Given the description of an element on the screen output the (x, y) to click on. 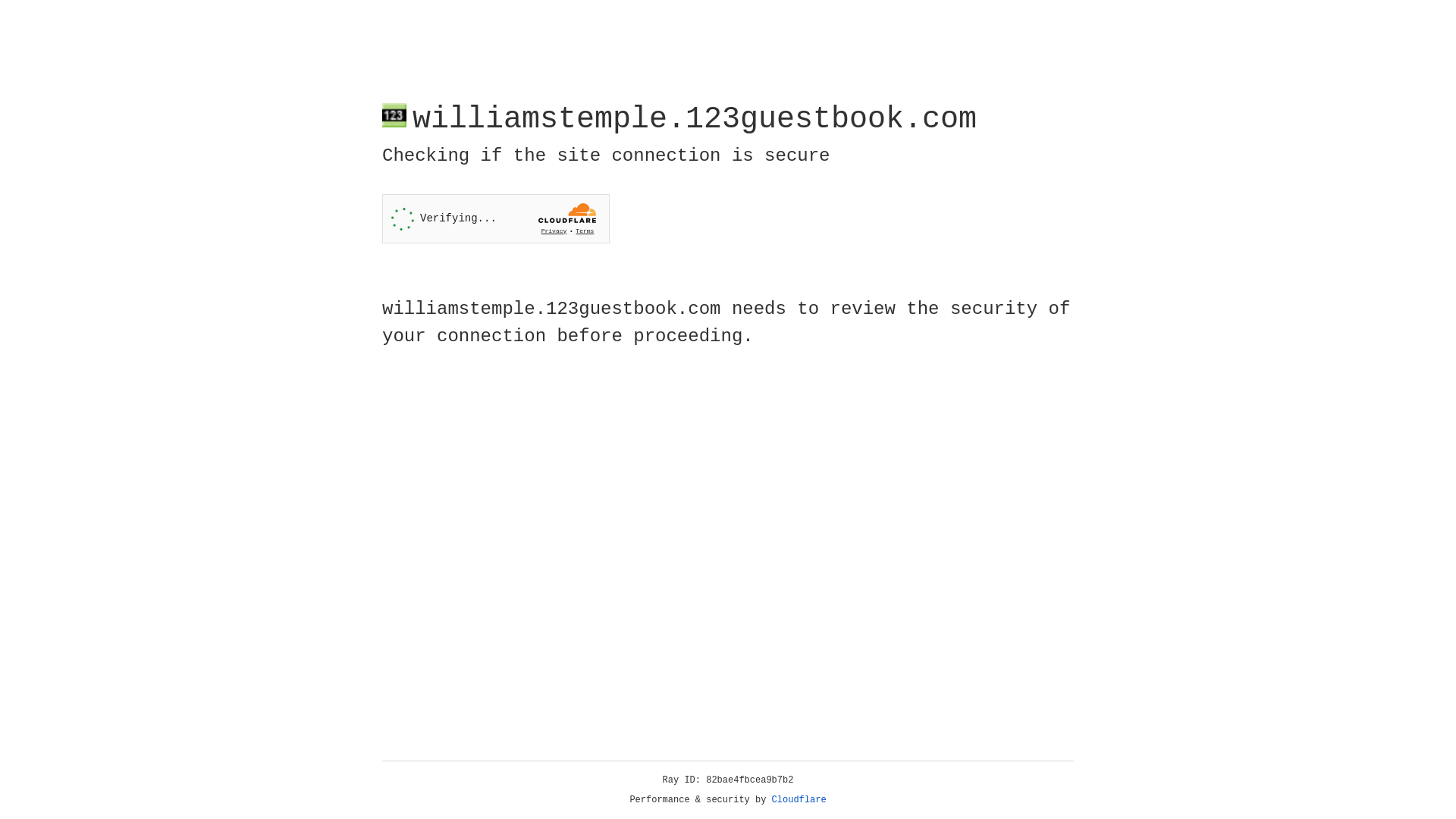
Cloudflare Element type: text (798, 799)
Widget containing a Cloudflare security challenge Element type: hover (495, 218)
